Given the description of an element on the screen output the (x, y) to click on. 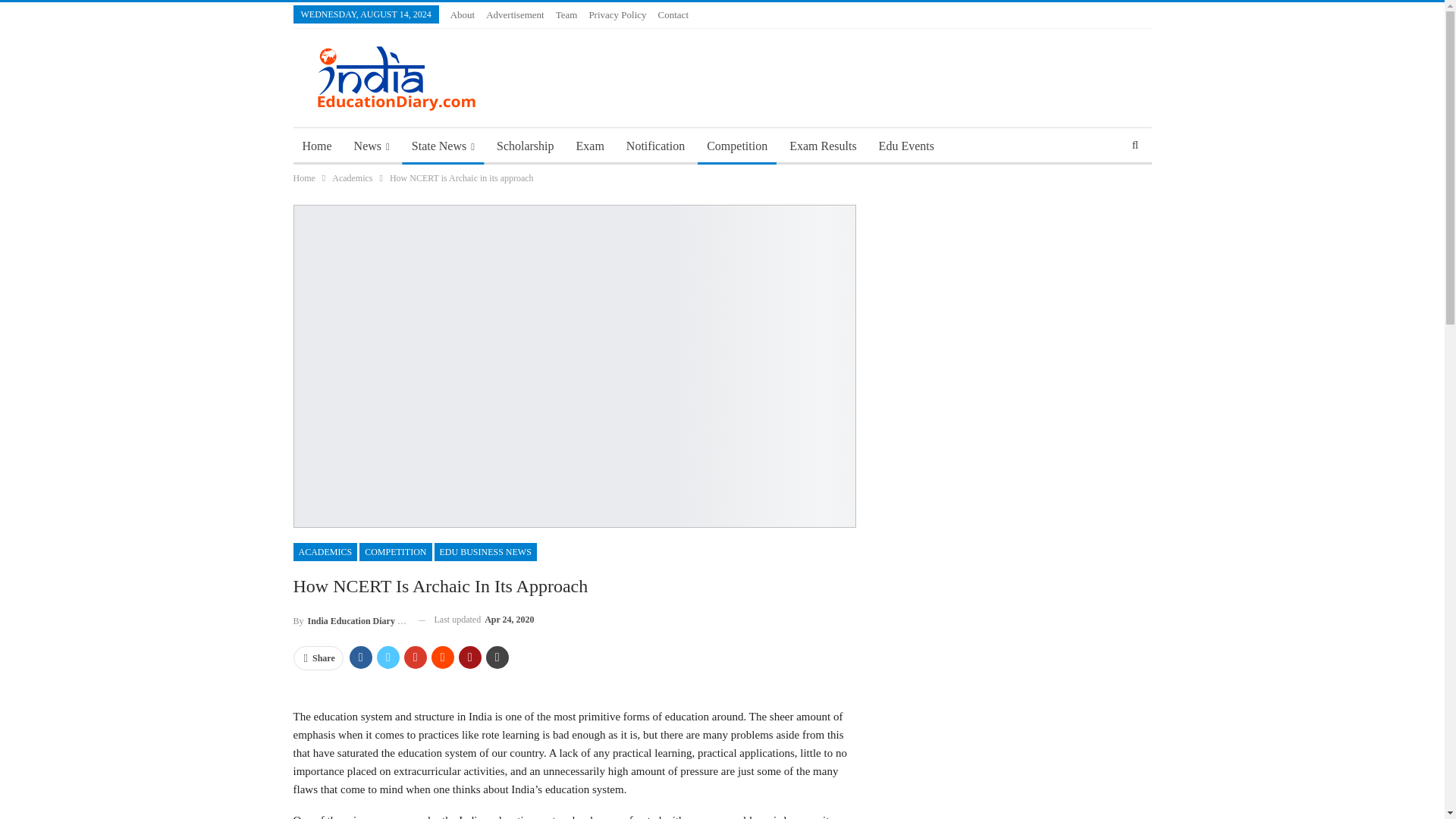
News (371, 145)
About (462, 14)
Home (316, 145)
Advertisement (515, 14)
State News (443, 145)
Contact (673, 14)
Browse Author Articles (349, 619)
Privacy Policy (617, 14)
Team (567, 14)
